Given the description of an element on the screen output the (x, y) to click on. 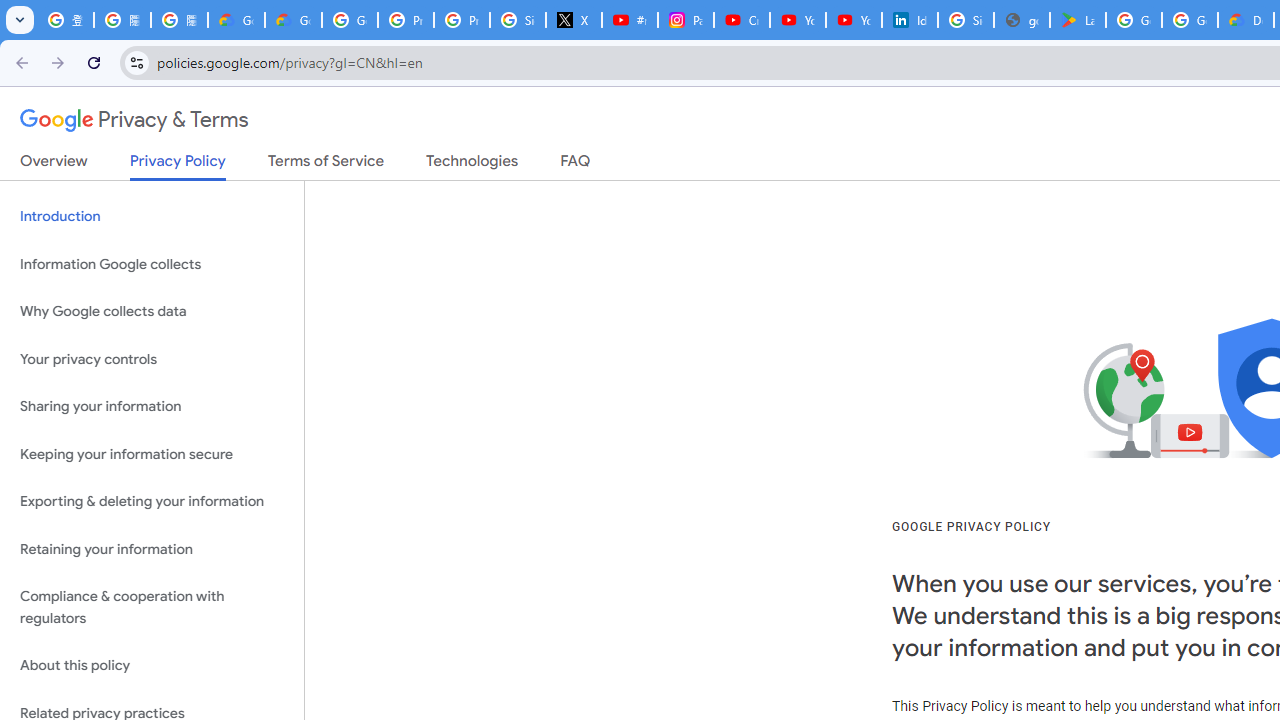
Sign in - Google Accounts (966, 20)
Google Cloud Privacy Notice (235, 20)
google_privacy_policy_en.pdf (1021, 20)
Identity verification via Persona | LinkedIn Help (909, 20)
#nbabasketballhighlights - YouTube (629, 20)
Privacy & Terms (134, 120)
Privacy Policy (177, 166)
Your privacy controls (152, 358)
Google Cloud Privacy Notice (293, 20)
Technologies (472, 165)
Sharing your information (152, 407)
